Given the description of an element on the screen output the (x, y) to click on. 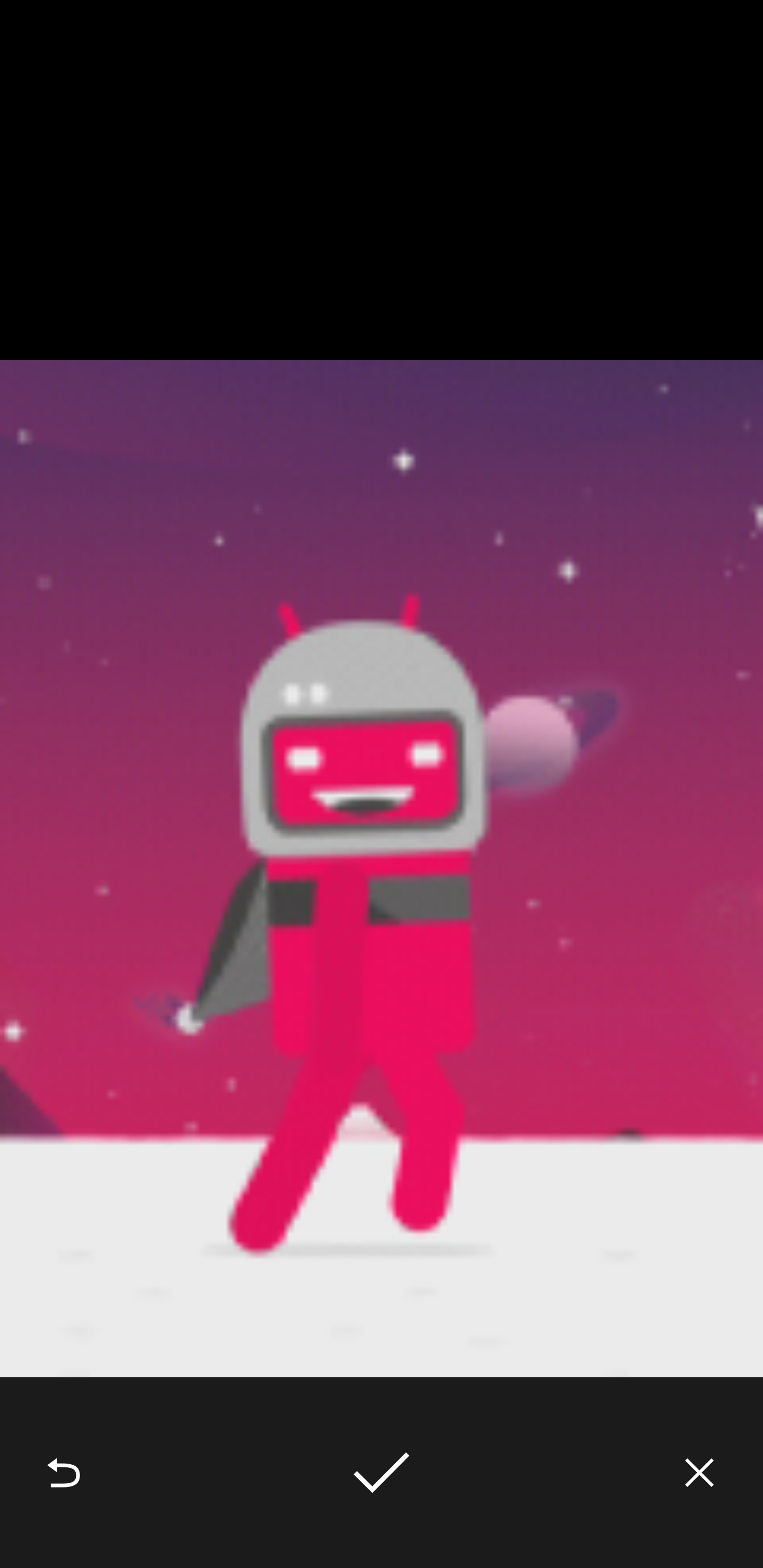
Done (381, 1472)
Retake (63, 1472)
Cancel (699, 1472)
